Given the description of an element on the screen output the (x, y) to click on. 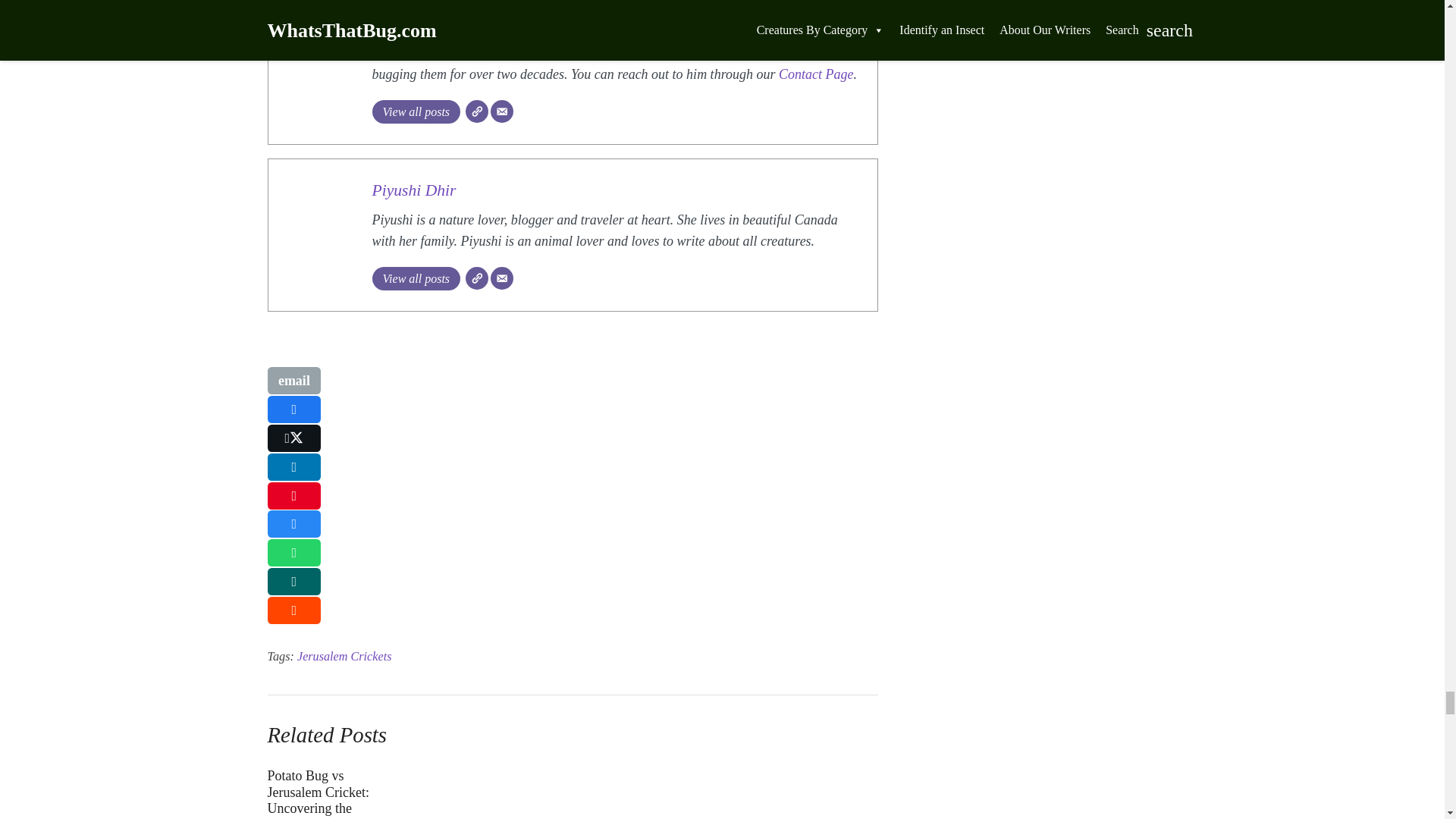
Potato Bug vs Jerusalem Cricket: Uncovering the Differences (332, 786)
